Given the description of an element on the screen output the (x, y) to click on. 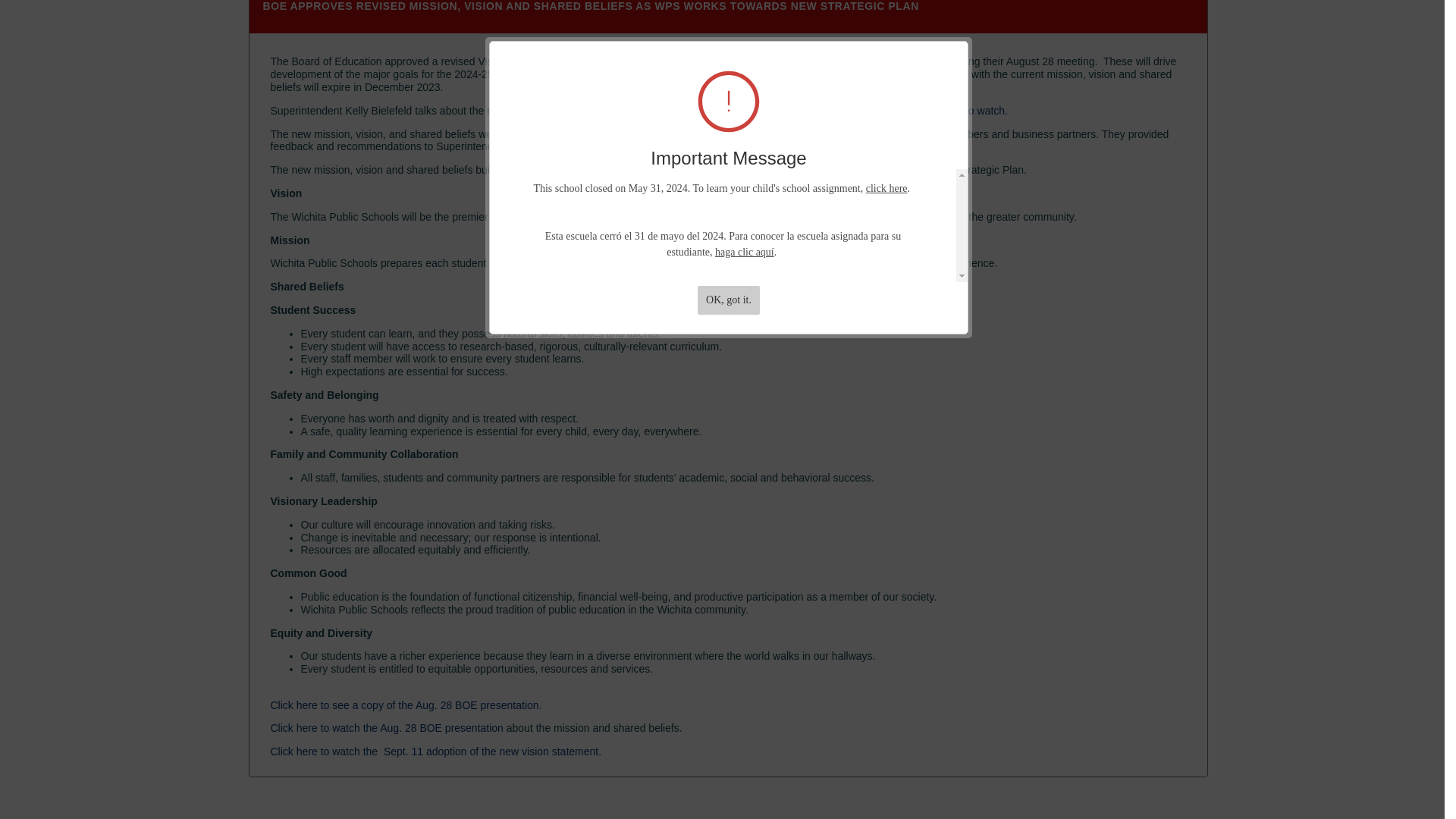
click here (886, 129)
OK, got it. (728, 241)
